Given the description of an element on the screen output the (x, y) to click on. 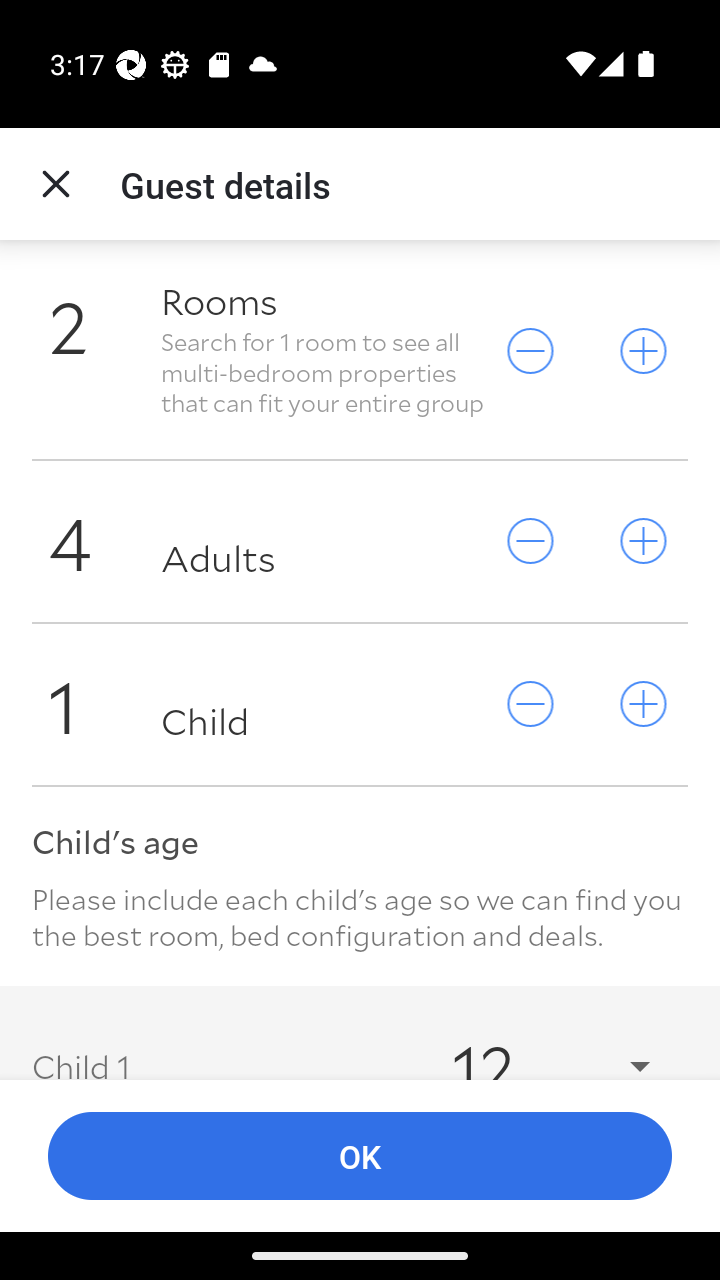
12 (531, 1044)
OK (359, 1156)
